Given the description of an element on the screen output the (x, y) to click on. 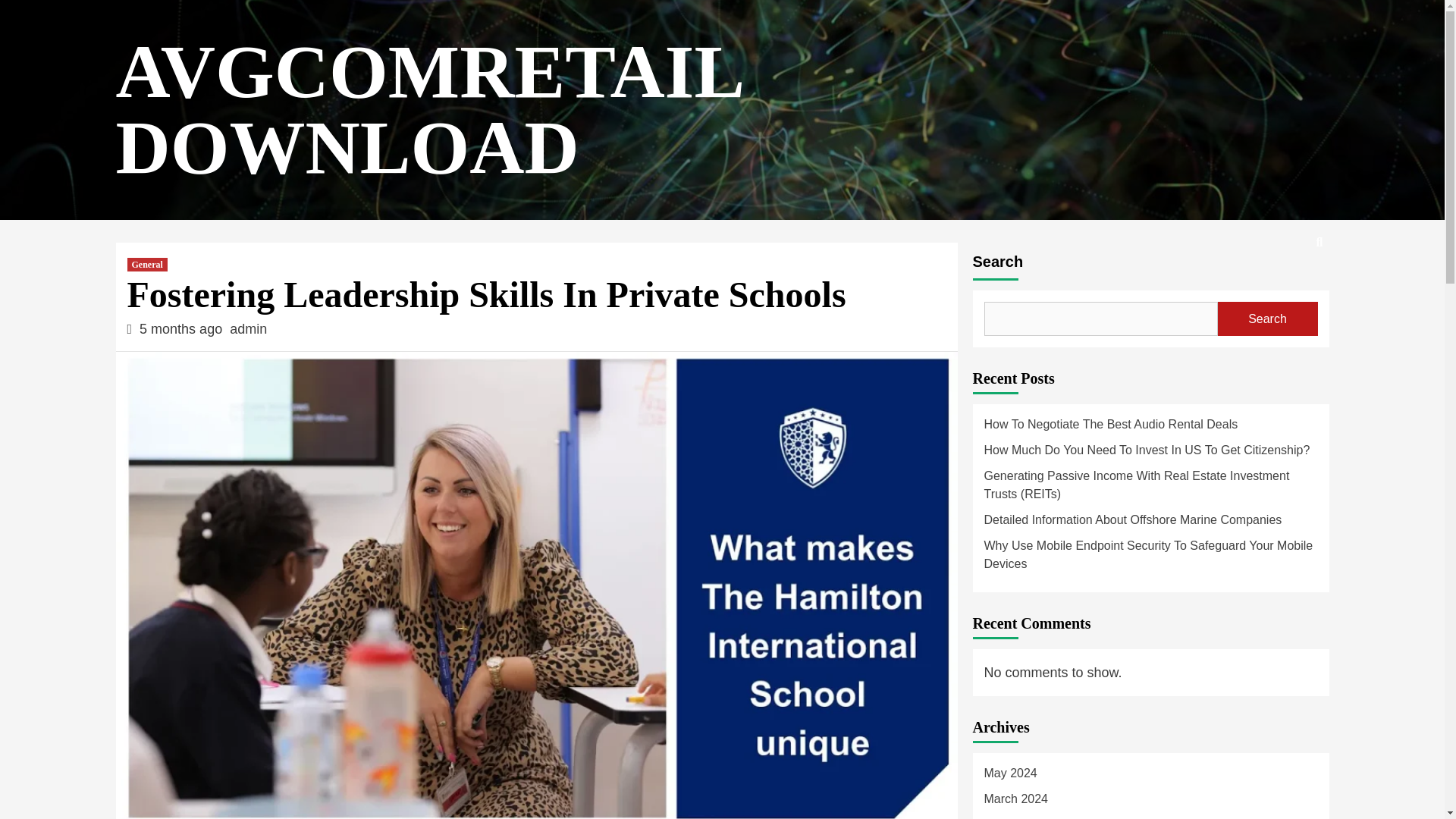
Detailed Information About Offshore Marine Companies (1150, 524)
Search (1267, 318)
How Much Do You Need To Invest In US To Get Citizenship? (1150, 453)
May 2024 (1150, 777)
admin (248, 328)
AVGCOMRETAIL DOWNLOAD (427, 109)
Search (1283, 291)
March 2024 (1150, 802)
General (147, 264)
How To Negotiate The Best Audio Rental Deals (1150, 428)
